Given the description of an element on the screen output the (x, y) to click on. 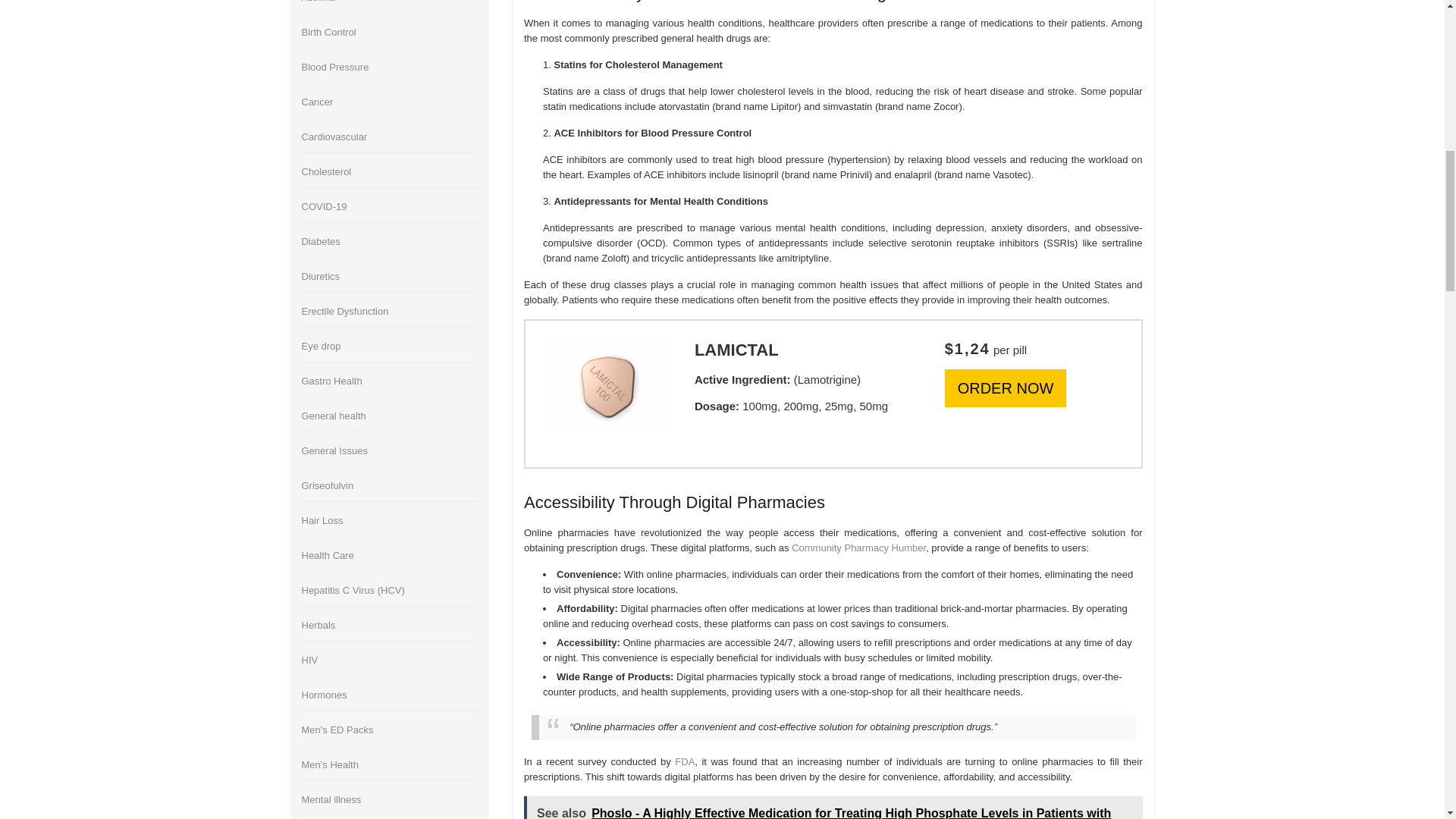
ORDER NOW (1005, 388)
Community Pharmacy Humber (859, 547)
FDA (684, 761)
